Given the description of an element on the screen output the (x, y) to click on. 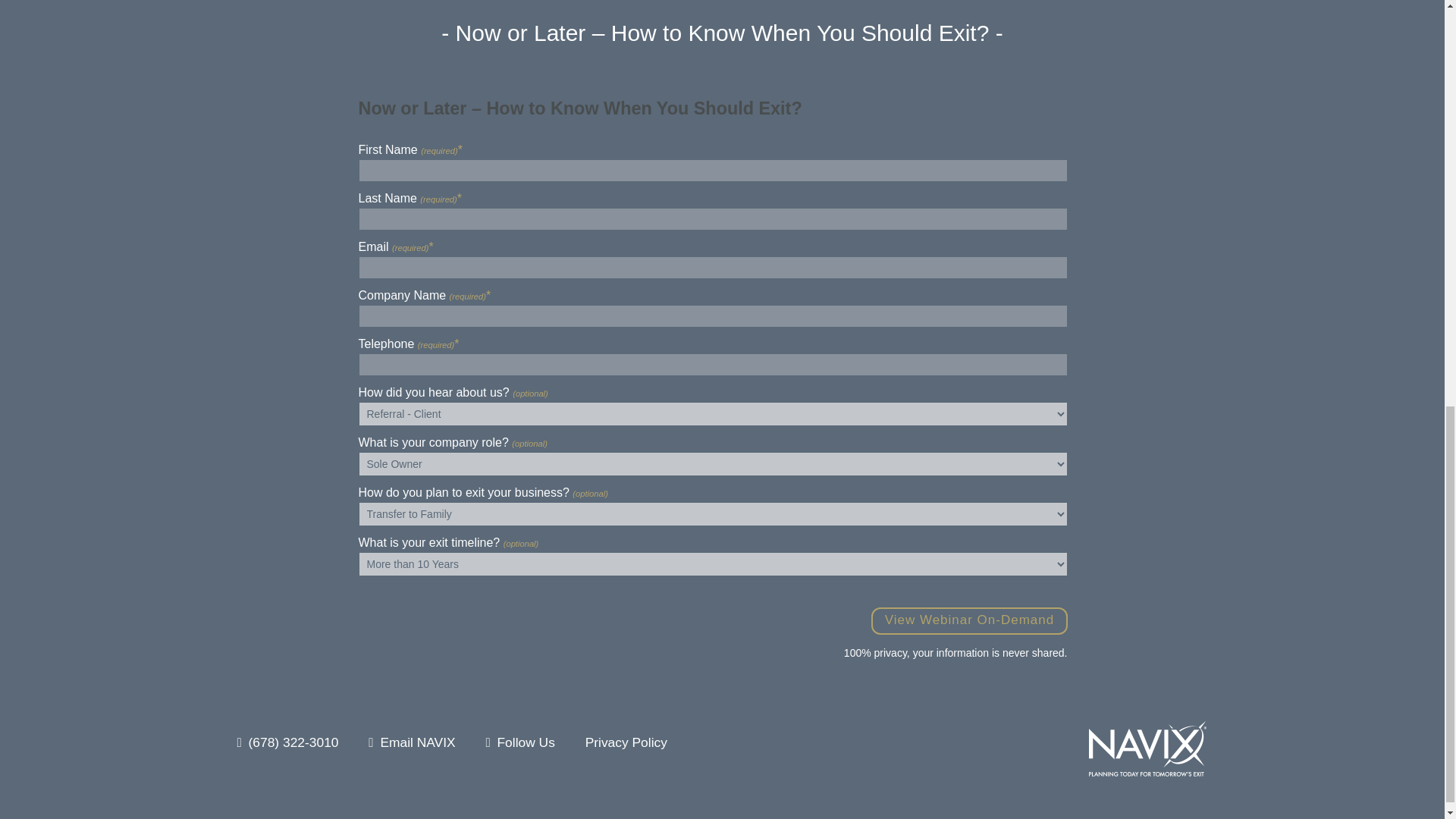
Follow Us (525, 741)
Email NAVIX (417, 741)
NAVIX Consultants (1147, 749)
Privacy Policy (625, 741)
View Webinar On-Demand (968, 620)
View Webinar On-Demand (968, 620)
